Given the description of an element on the screen output the (x, y) to click on. 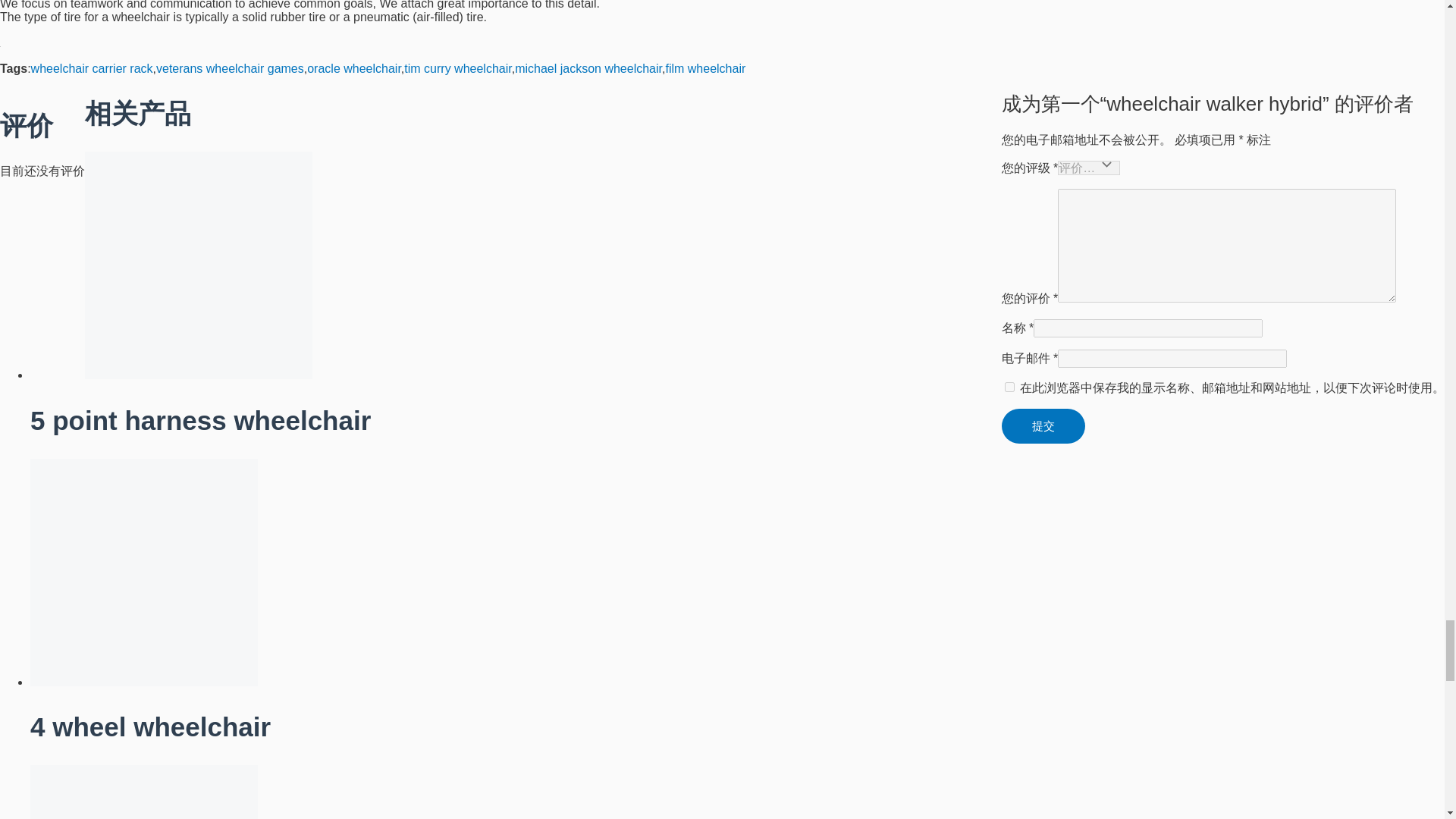
tim curry wheelchair (457, 68)
yes (1009, 387)
veterans wheelchair games (229, 68)
oracle wheelchair (354, 68)
wheelchair carrier rack (91, 68)
